Given the description of an element on the screen output the (x, y) to click on. 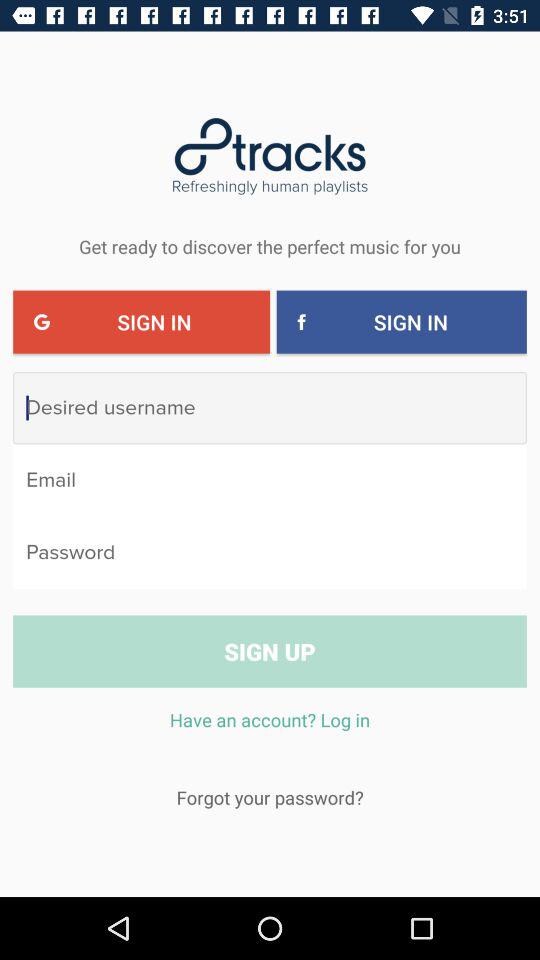
desired (269, 408)
